Given the description of an element on the screen output the (x, y) to click on. 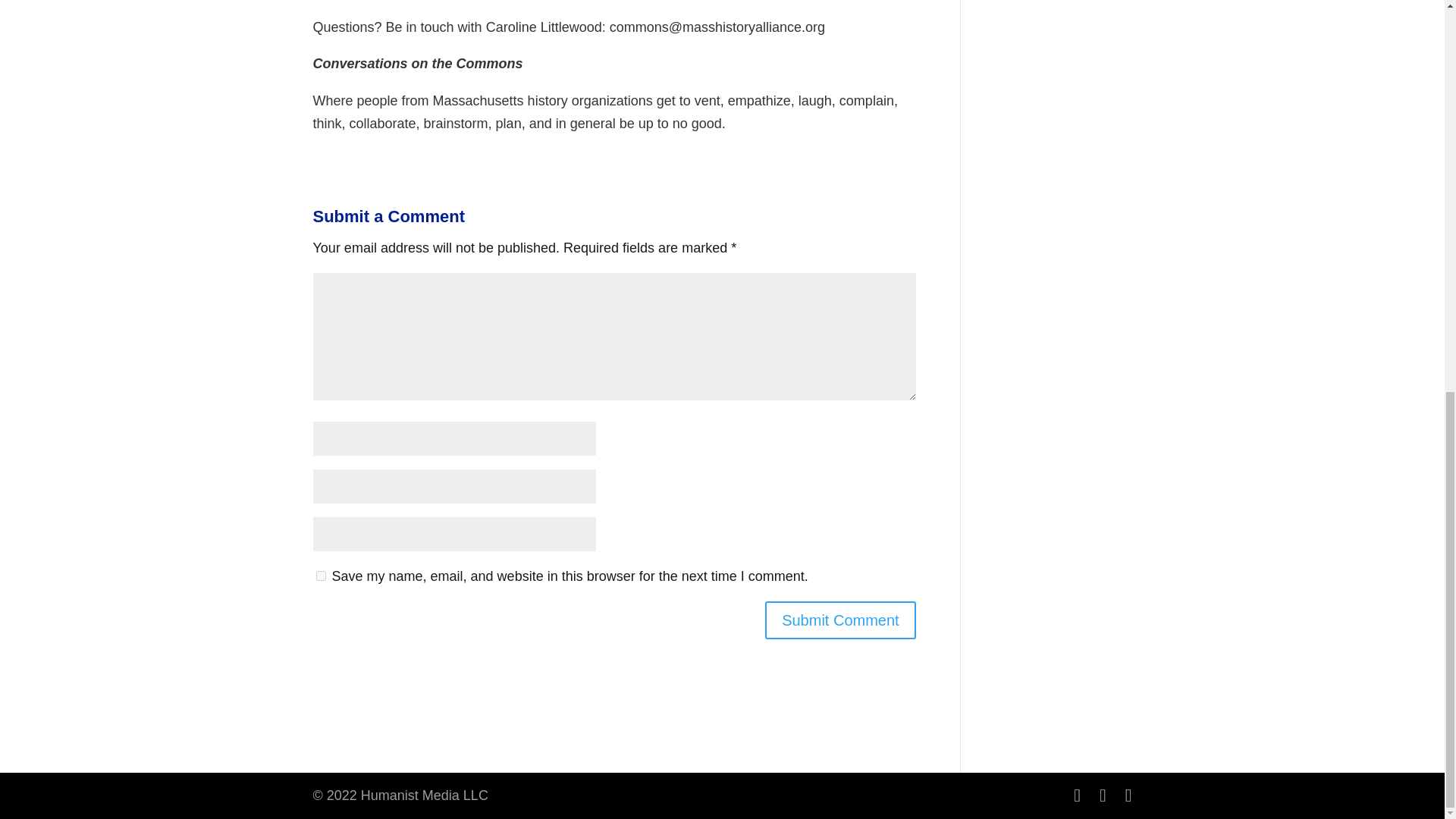
yes (319, 575)
Submit Comment (840, 620)
Submit Comment (840, 620)
